Given the description of an element on the screen output the (x, y) to click on. 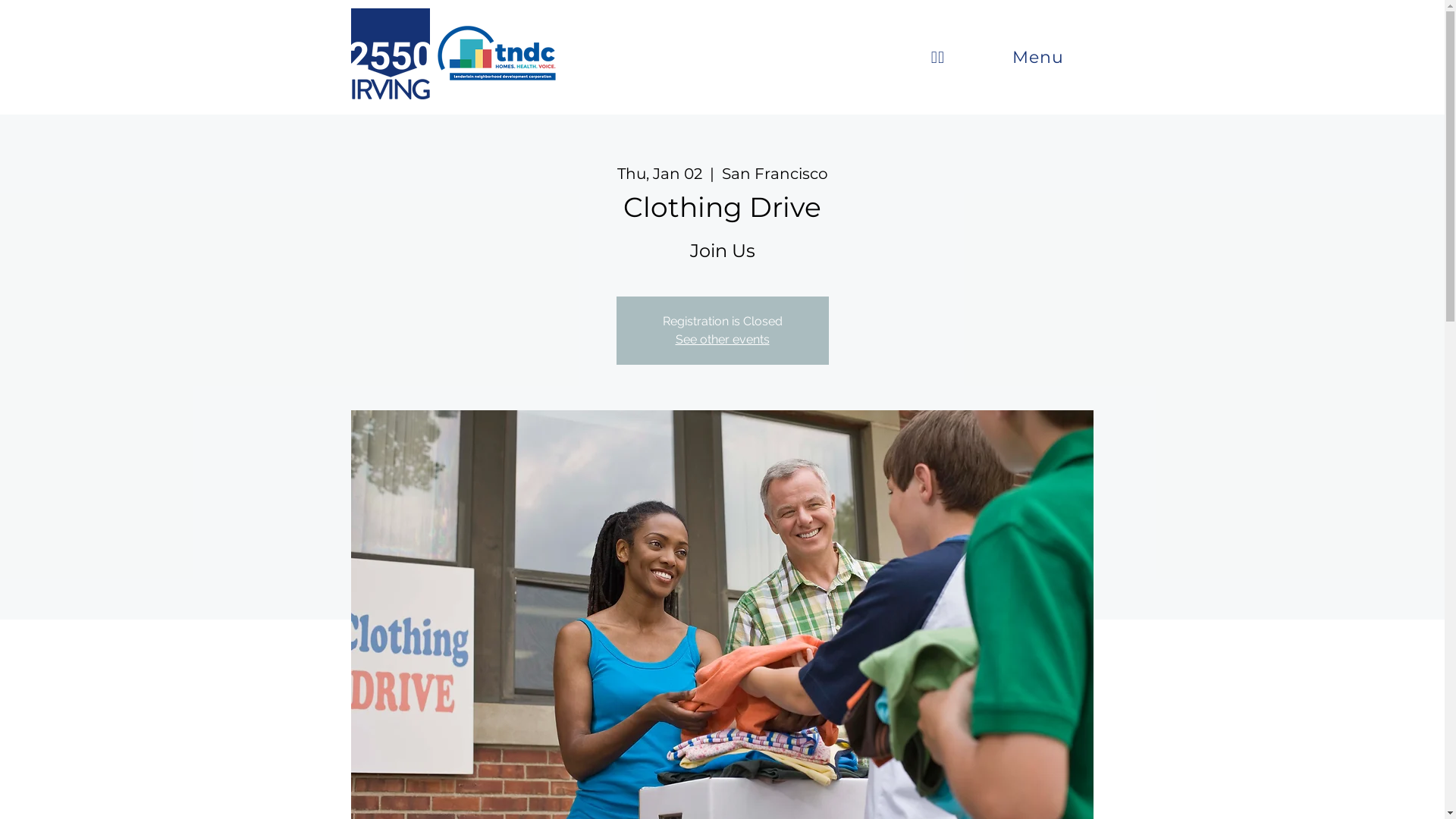
Menu Element type: text (1037, 57)
See other events Element type: text (721, 339)
